Given the description of an element on the screen output the (x, y) to click on. 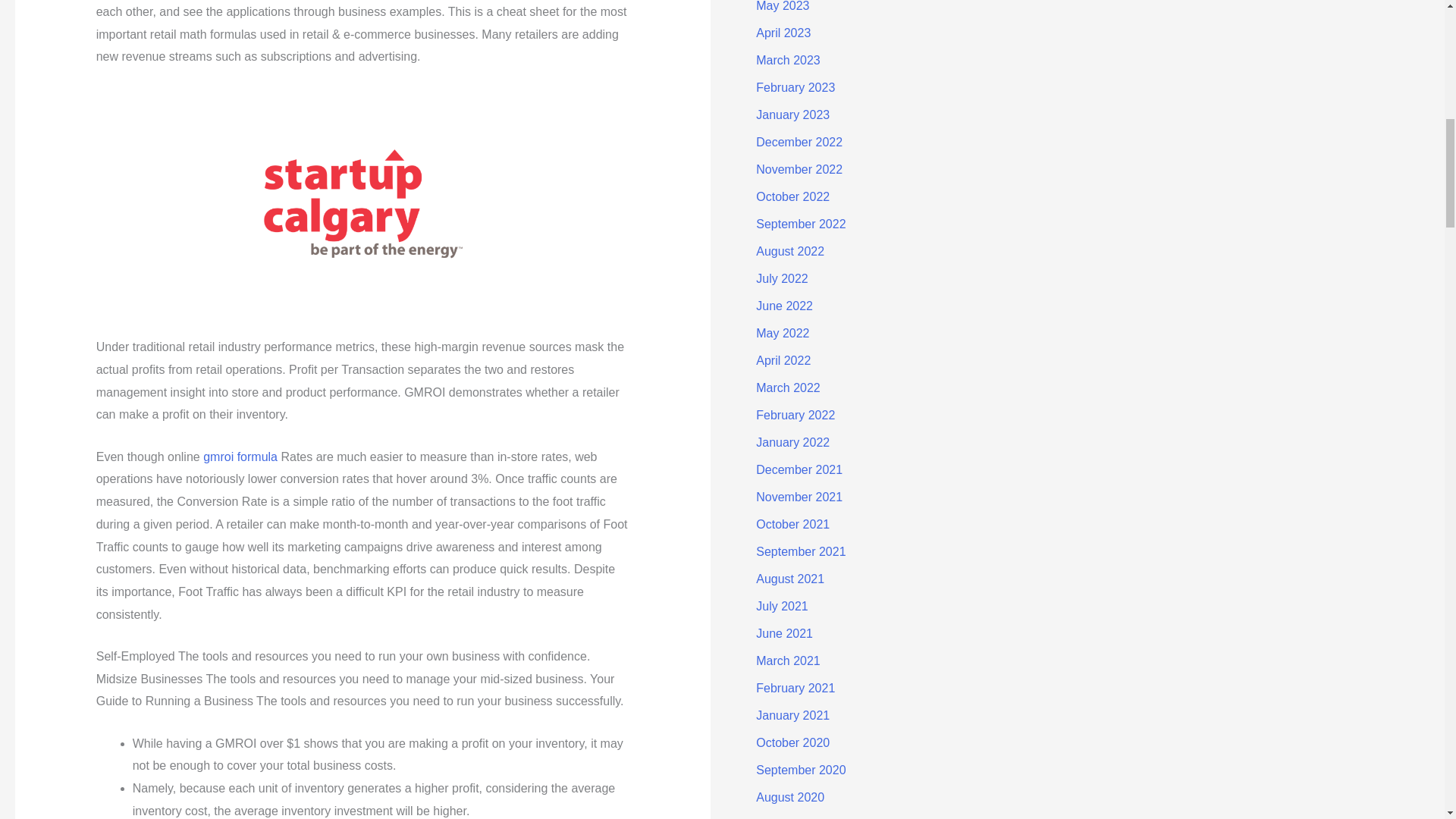
April 2023 (782, 32)
February 2023 (794, 87)
August 2022 (789, 250)
gmroi formula (240, 456)
October 2022 (792, 196)
November 2022 (799, 169)
September 2022 (800, 223)
December 2022 (799, 141)
March 2023 (788, 60)
January 2023 (792, 114)
